Given the description of an element on the screen output the (x, y) to click on. 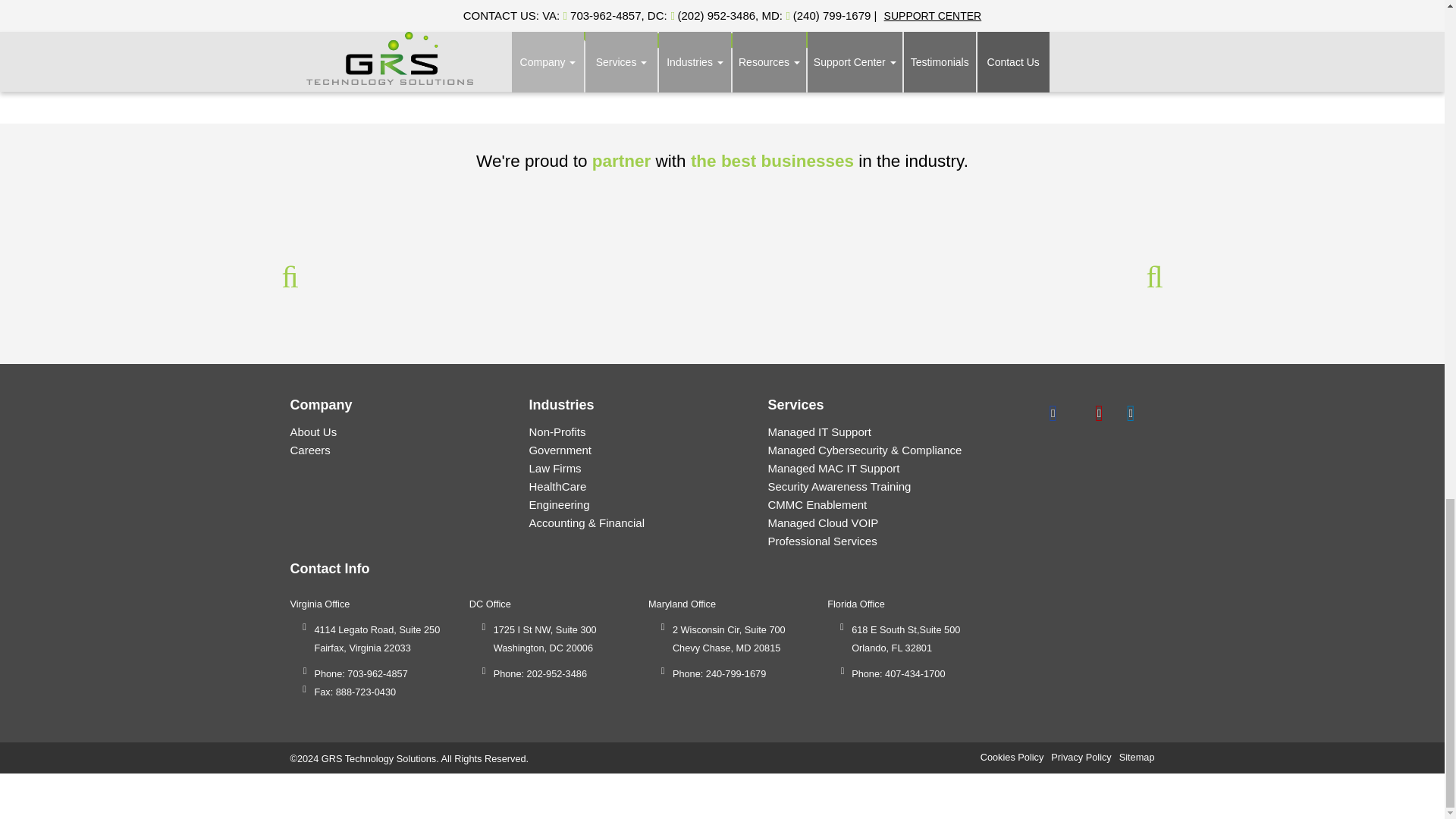
Follow us on Facebook (1053, 411)
Government (559, 449)
About Us (312, 431)
Sitemap (1136, 756)
Non-Profits (556, 431)
Watch us on Youtube (1130, 411)
Careers (309, 449)
Engineering (558, 504)
Find us on Youtube (1098, 411)
HealthCare (557, 486)
Privacy Policy (1080, 756)
Law Firms (554, 468)
